Given the description of an element on the screen output the (x, y) to click on. 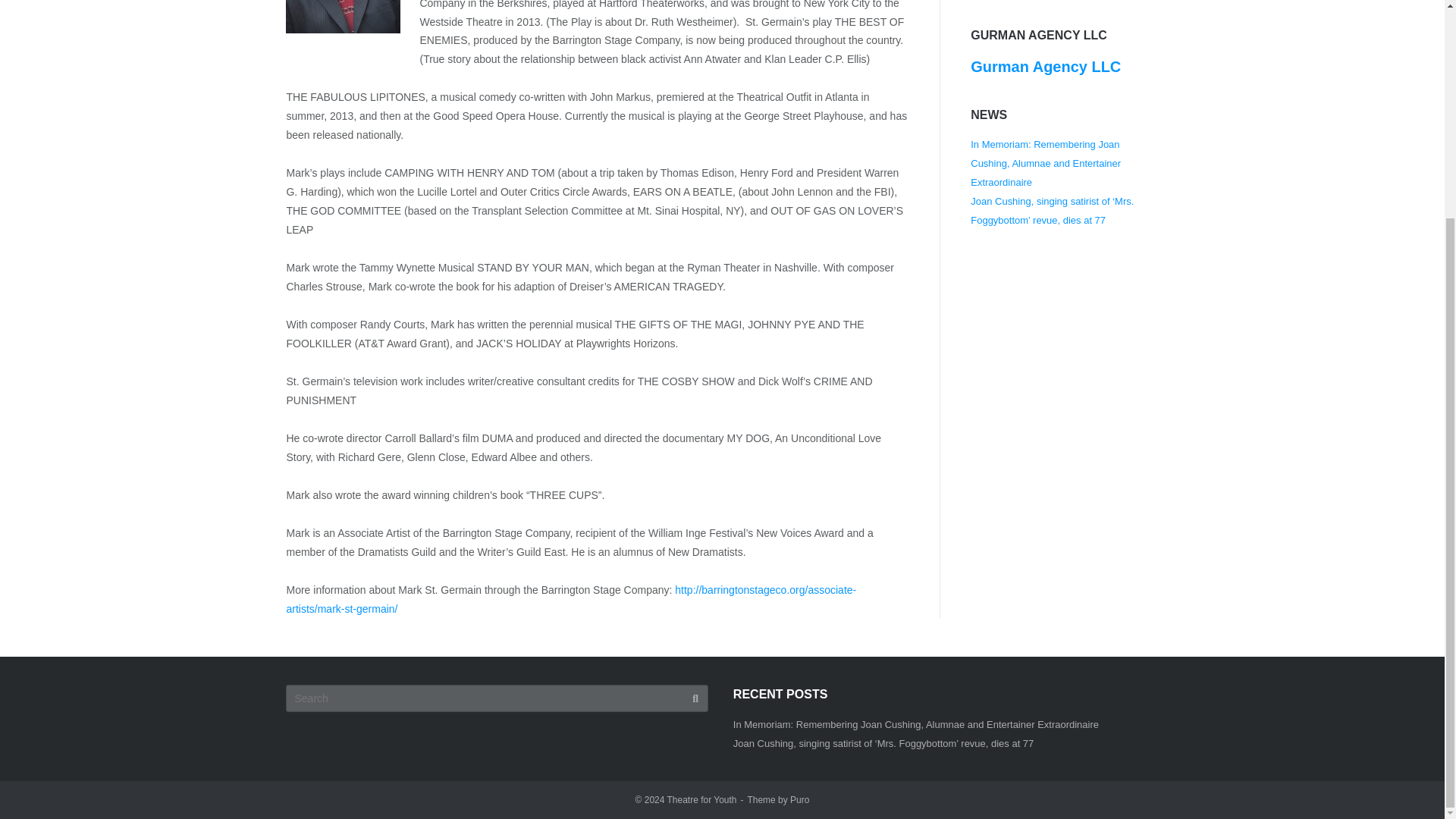
Puro (799, 799)
Theatre for Youth (701, 799)
Gurman Agency LLC (1046, 66)
